Given the description of an element on the screen output the (x, y) to click on. 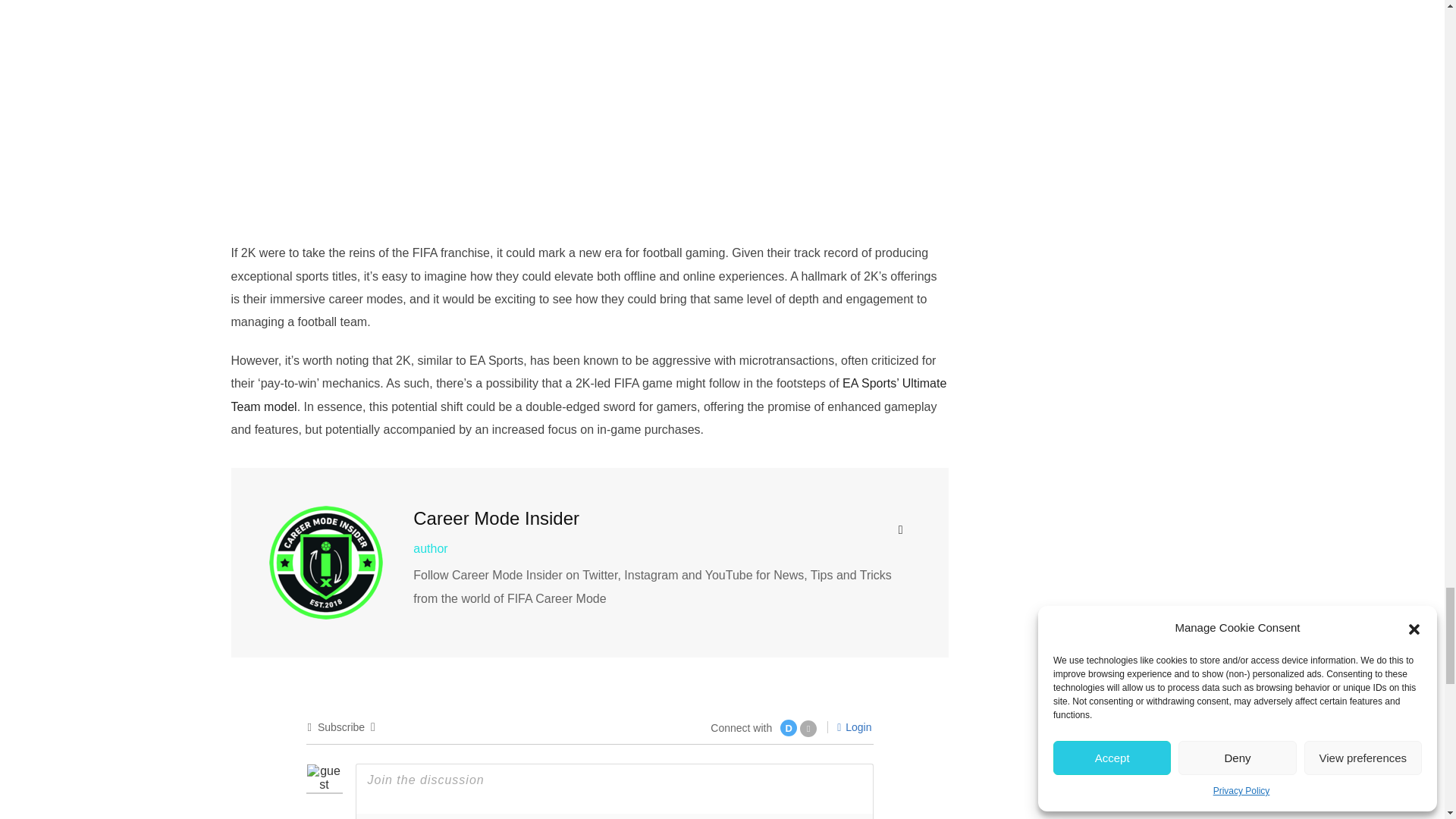
Posts by Career Mode Insider (496, 517)
